Given the description of an element on the screen output the (x, y) to click on. 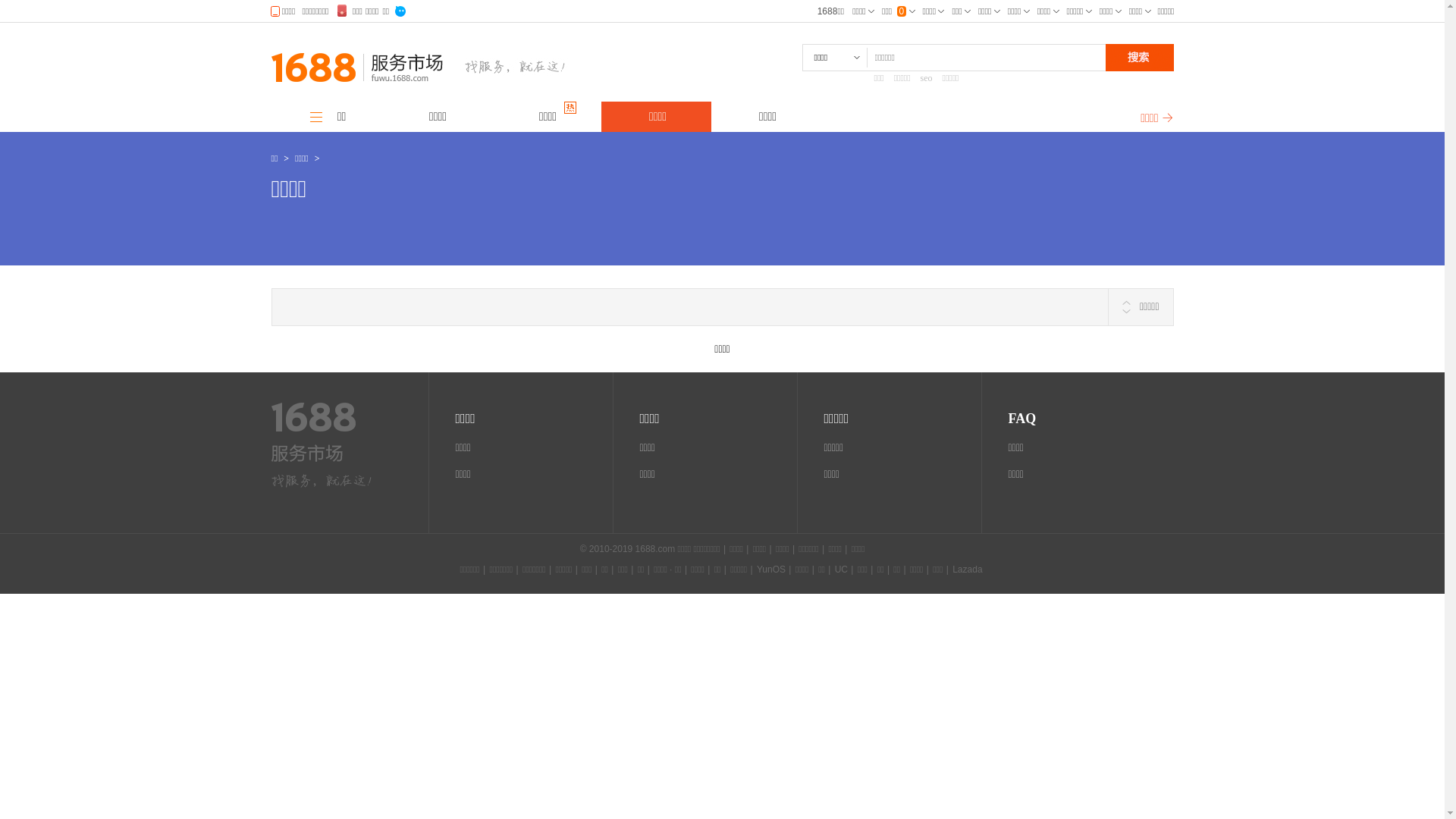
UC Element type: text (840, 569)
FAQ Element type: text (1022, 418)
1688 Element type: text (313, 428)
seo Element type: text (931, 77)
YunOS Element type: text (770, 569)
Lazada Element type: text (967, 569)
